Given the description of an element on the screen output the (x, y) to click on. 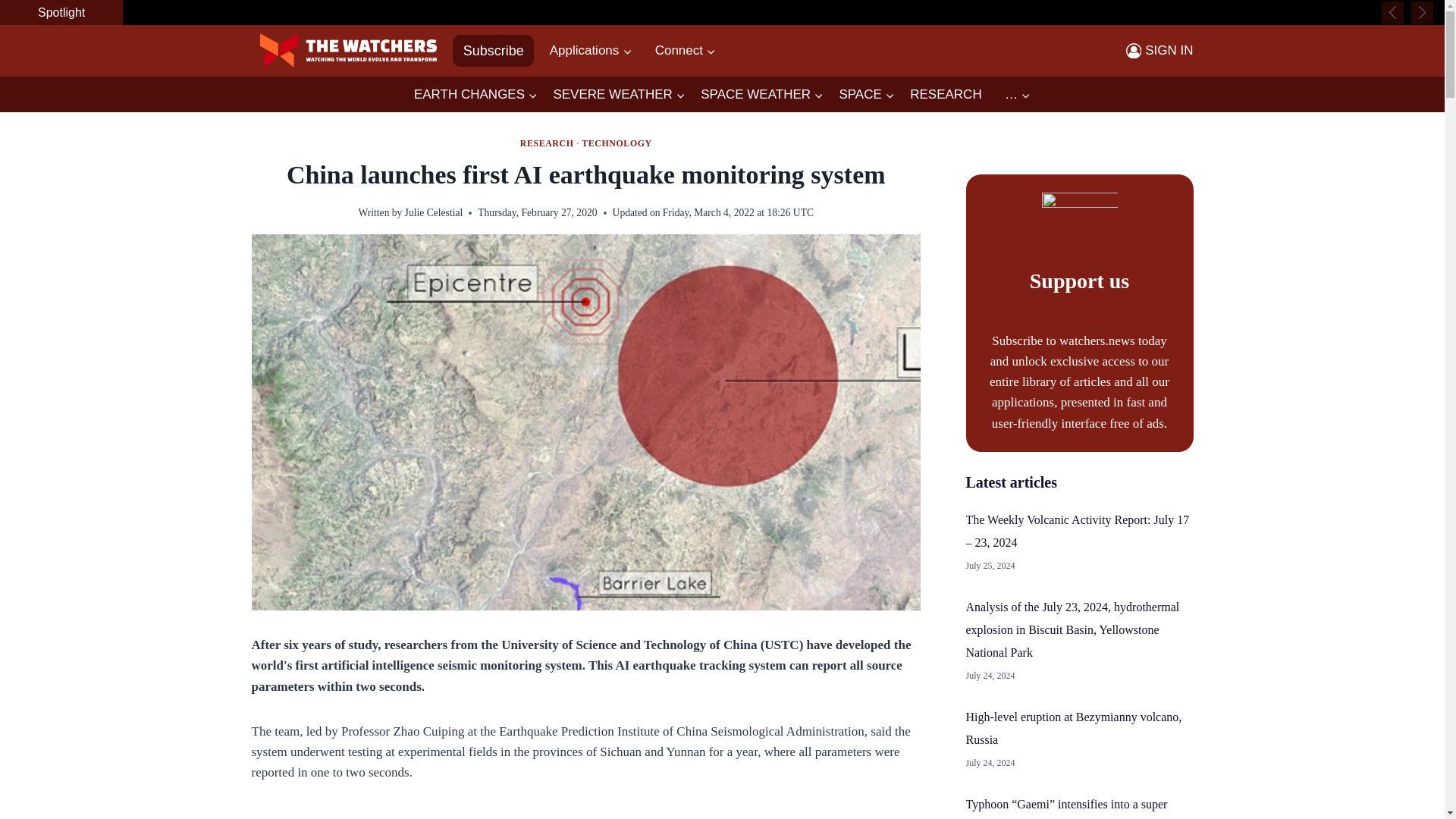
Subscribe (493, 50)
Connect (685, 50)
Applications (590, 50)
SIGN IN (1159, 50)
EARTH CHANGES (475, 94)
